Given the description of an element on the screen output the (x, y) to click on. 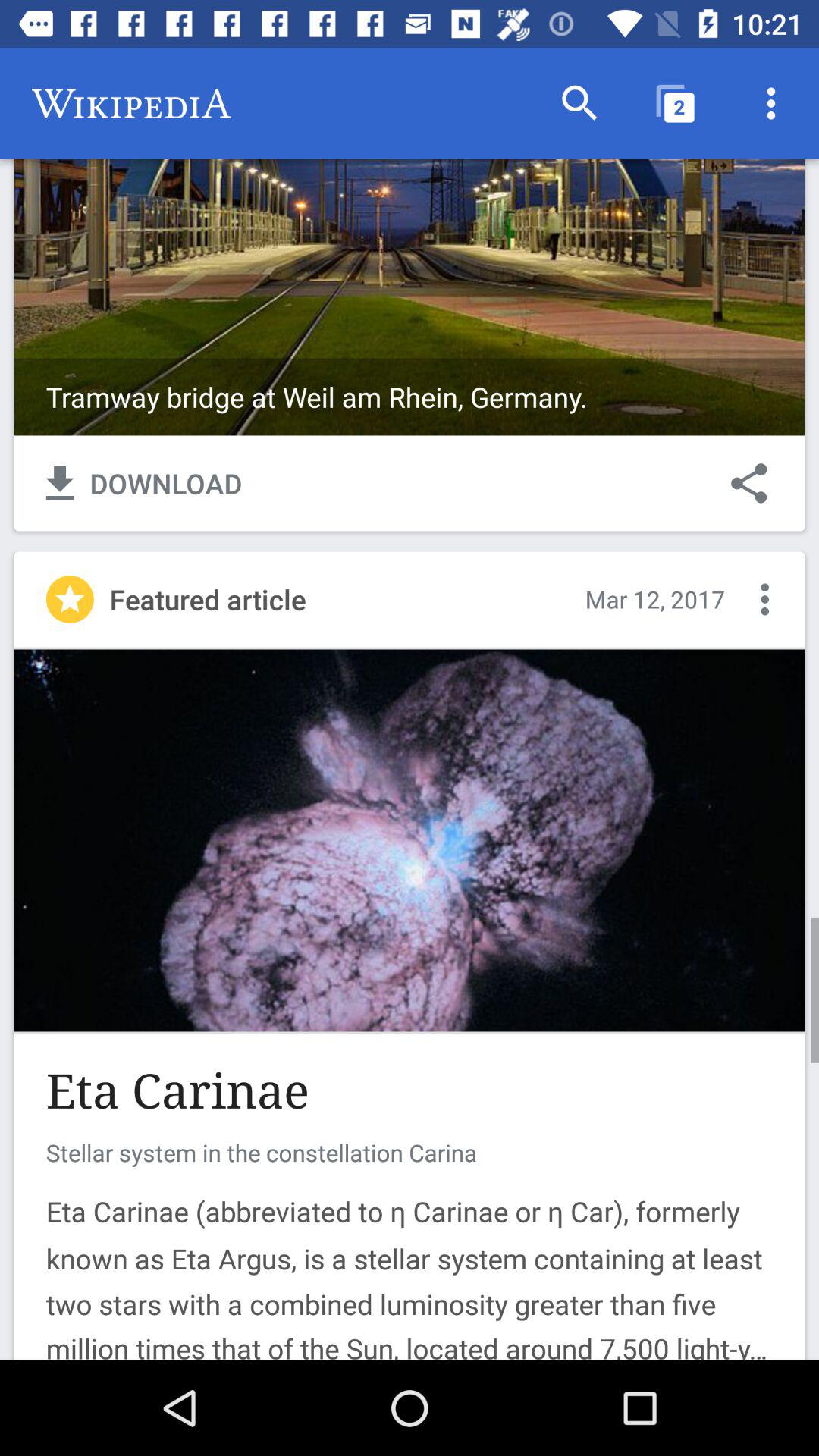
select the image (409, 241)
